Given the description of an element on the screen output the (x, y) to click on. 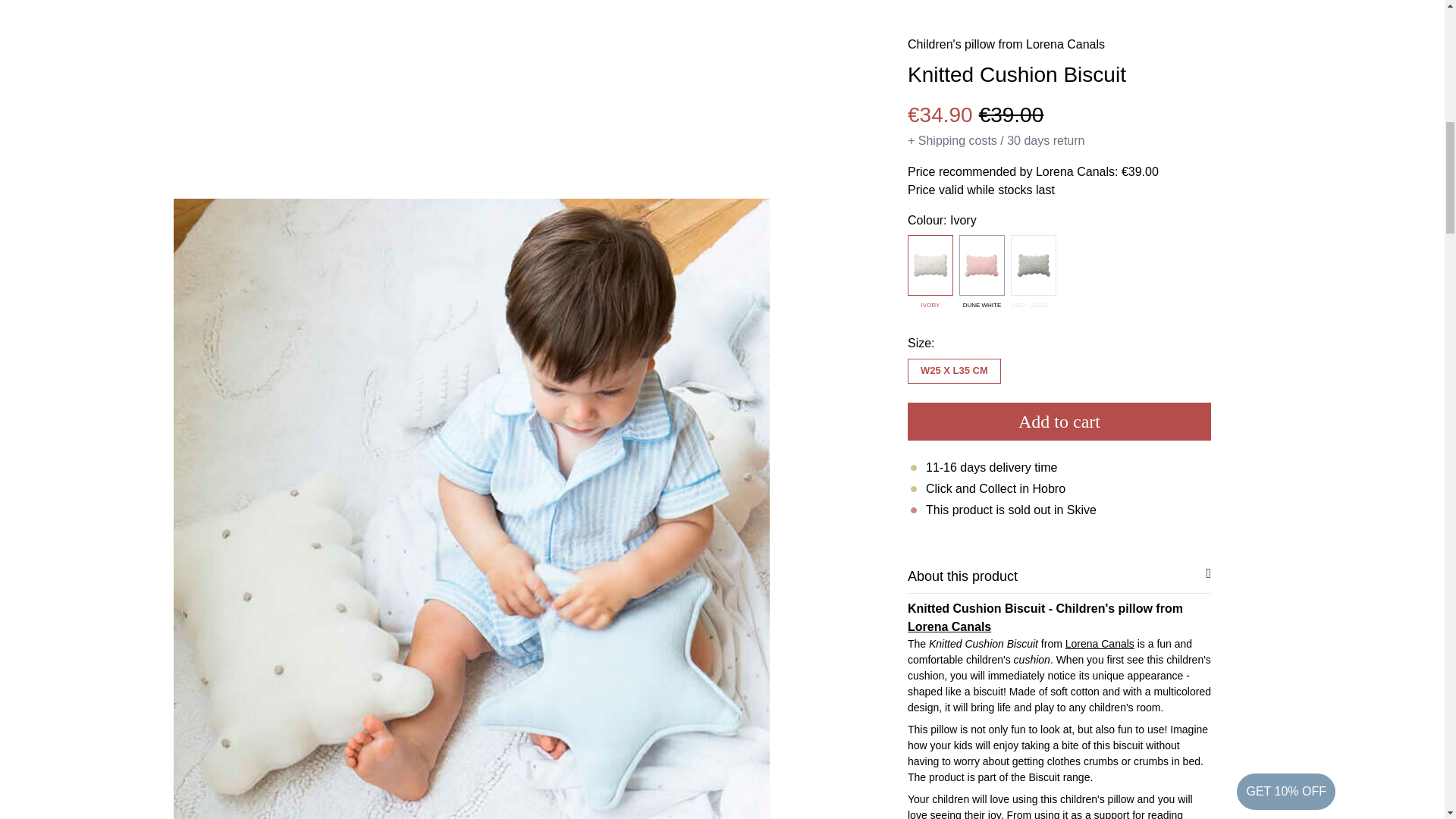
CHILDREN'S ROOM (1090, 580)
30 days full return (1059, 453)
CHILDREN TEXTILES (967, 580)
Free shipping above min. amount (1059, 493)
LORENA CANALS (958, 611)
KIDS (1176, 580)
Fast delivery on stock items (1059, 532)
